Given the description of an element on the screen output the (x, y) to click on. 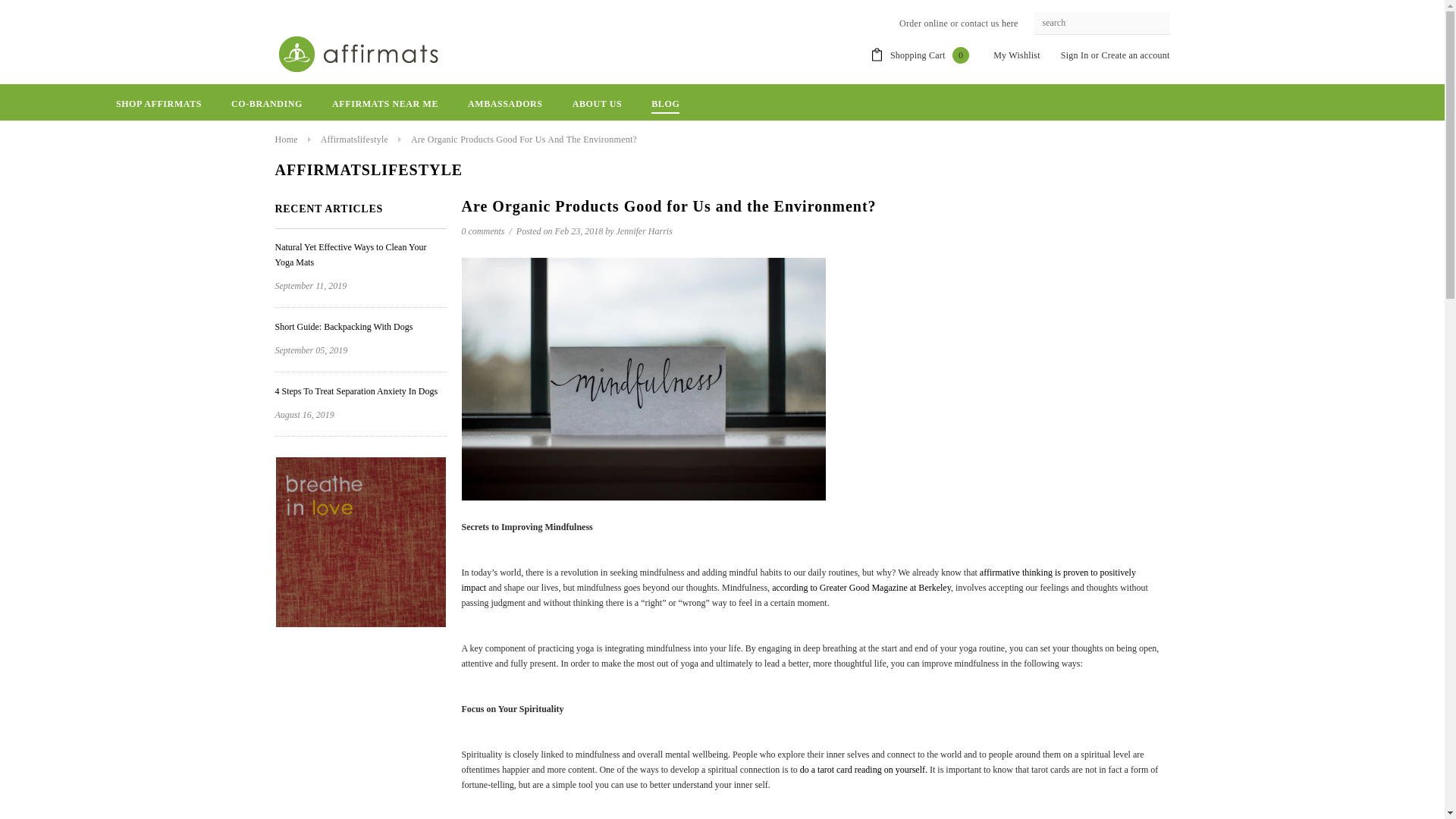
Sign In (1075, 54)
0 comments (483, 231)
do a tarot card reading on yourself. (863, 769)
Home (286, 139)
SHOP AFFIRMATS (159, 103)
BLOG (664, 103)
Short Guide: Backpacking With Dogs (343, 326)
according to Greater Good Magazine at Berkeley (860, 587)
AMBASSADORS (505, 103)
Affirmatslifestyle (354, 139)
